Given the description of an element on the screen output the (x, y) to click on. 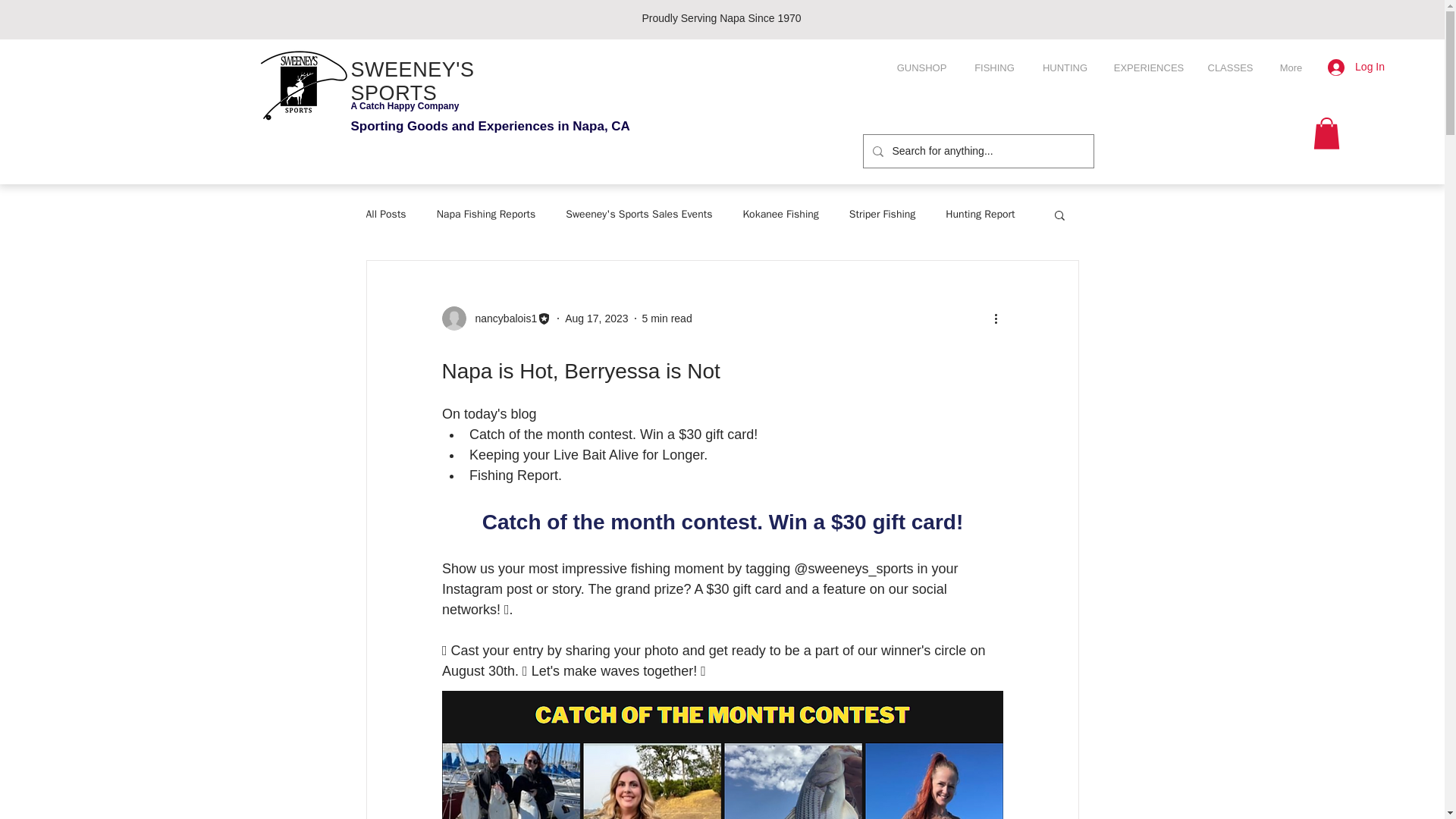
Kokanee Fishing (780, 214)
Proudly Serving Napa Since 1970 (721, 18)
Sweeney's Sports Sales Events (638, 214)
Aug 17, 2023 (595, 318)
Log In (1355, 67)
All Posts (385, 214)
Hunting Report (979, 214)
Sporting Goods and Experiences in Napa, CA (489, 125)
CLASSES (1230, 67)
A Catch Happy Company (404, 105)
